Given the description of an element on the screen output the (x, y) to click on. 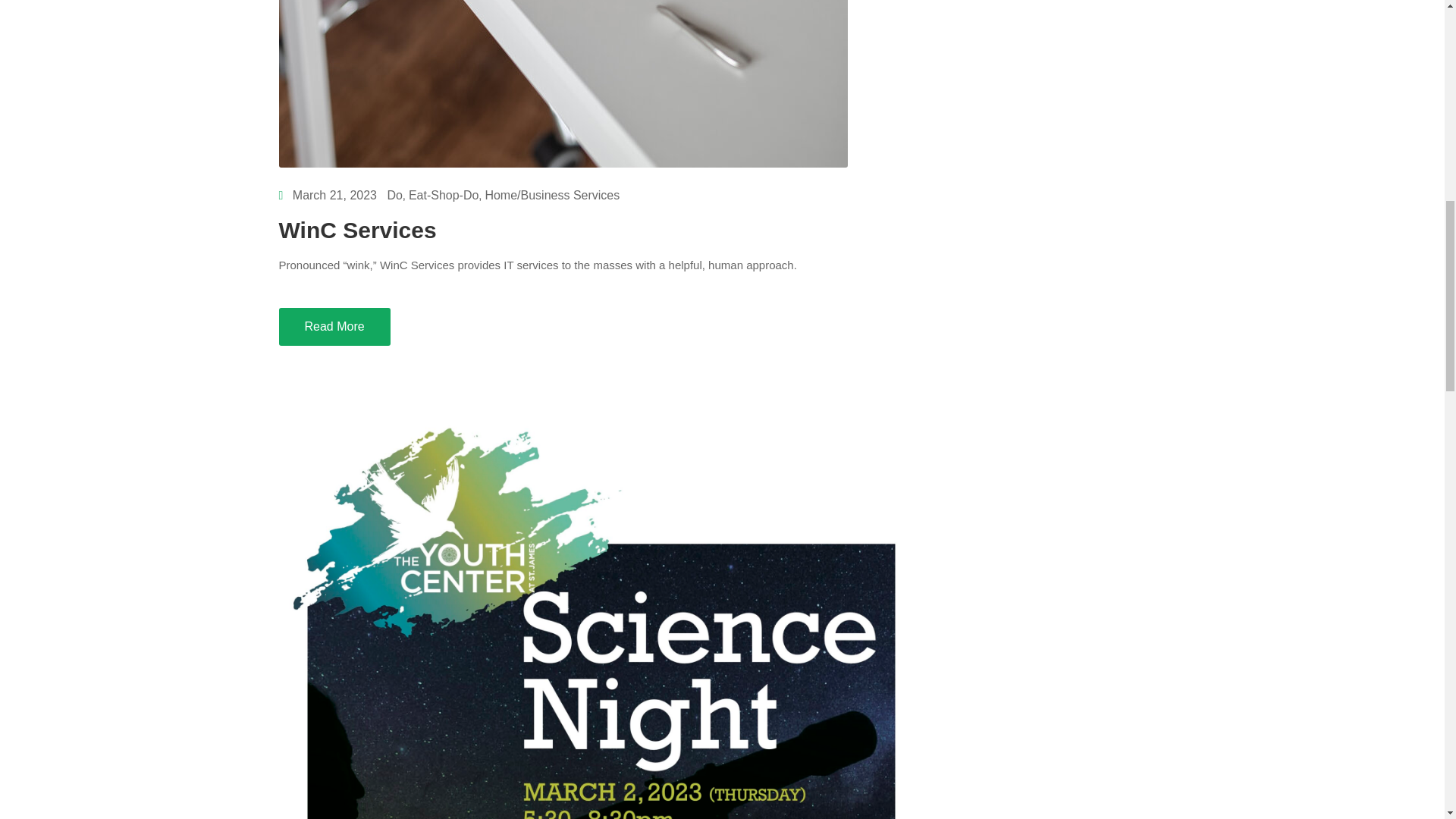
Do (394, 195)
Read More (334, 326)
Eat-Shop-Do (444, 195)
WinC Services (357, 229)
